Given the description of an element on the screen output the (x, y) to click on. 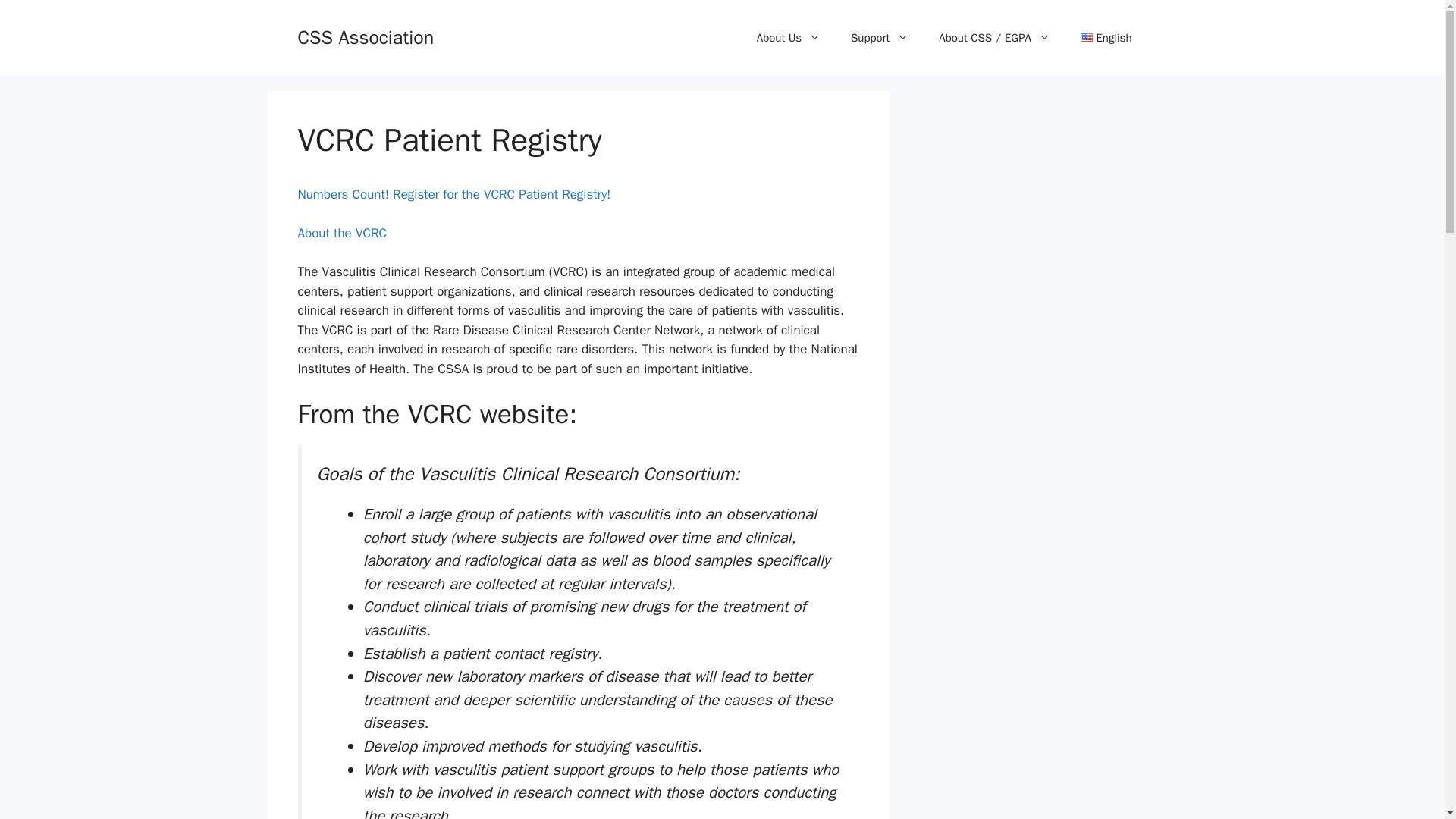
CSS Association (365, 37)
About Us (788, 37)
Support (879, 37)
